Given the description of an element on the screen output the (x, y) to click on. 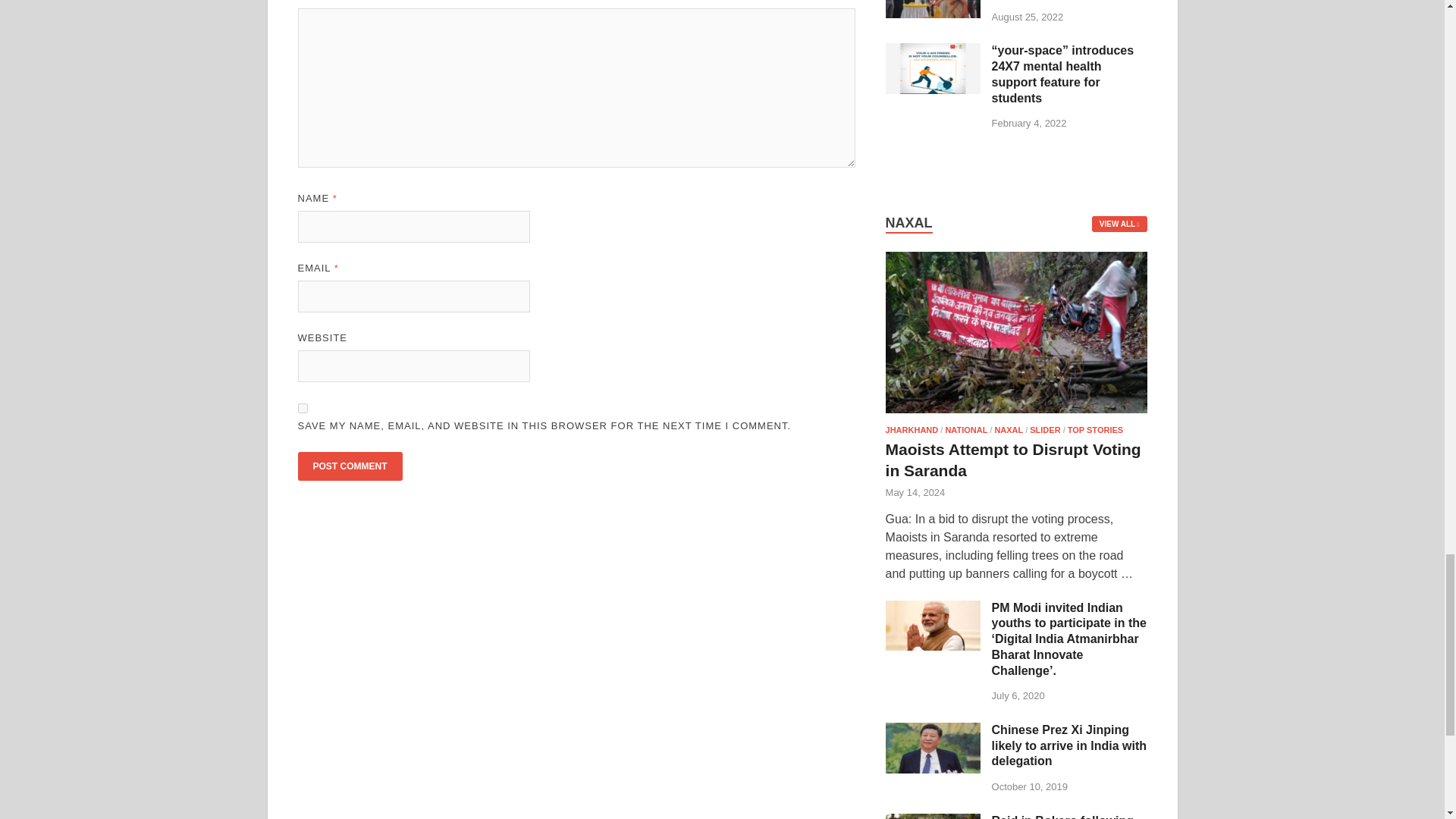
Post Comment (349, 466)
Post Comment (349, 466)
yes (302, 408)
